Given the description of an element on the screen output the (x, y) to click on. 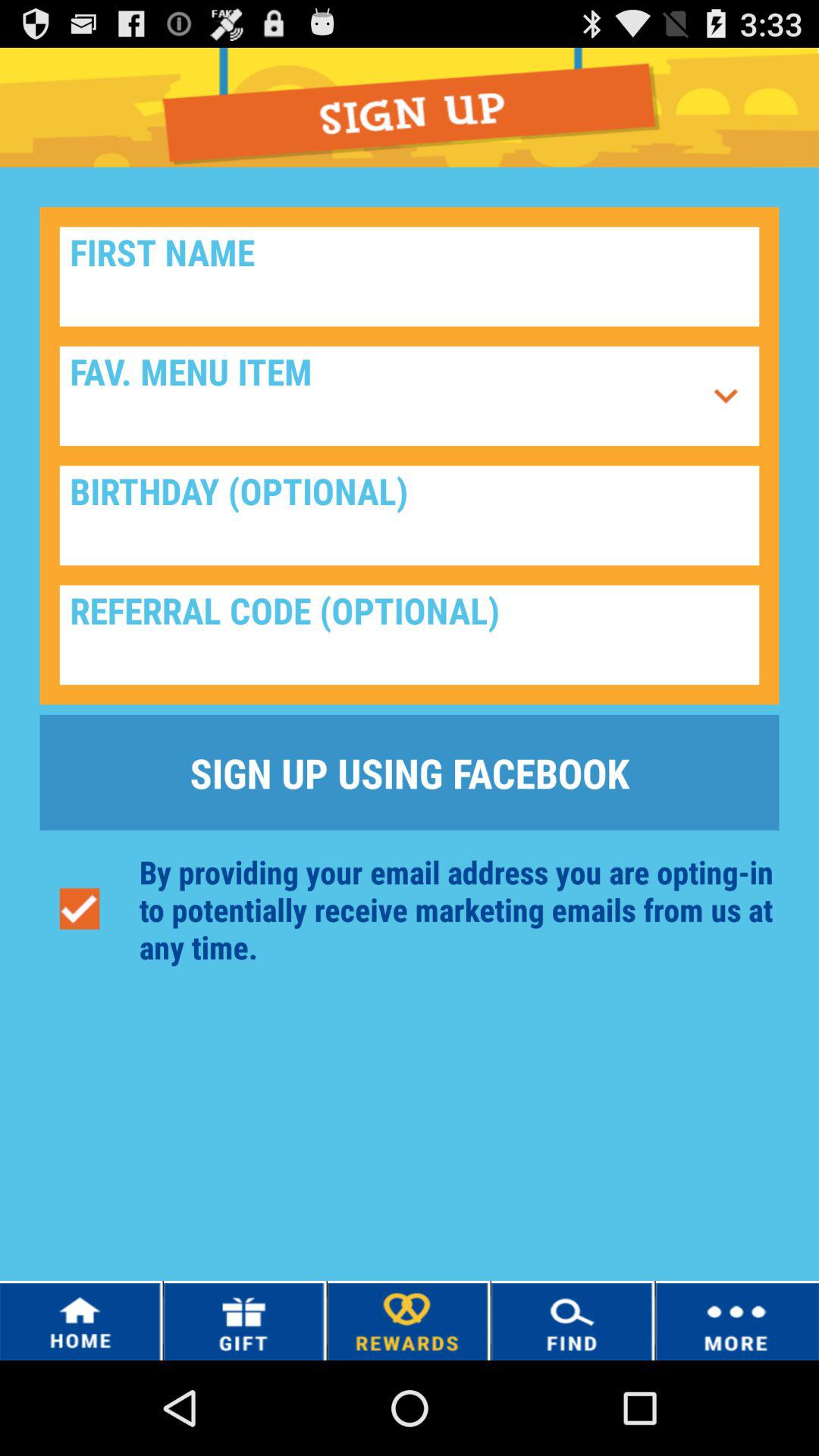
enter referral code (409, 634)
